Given the description of an element on the screen output the (x, y) to click on. 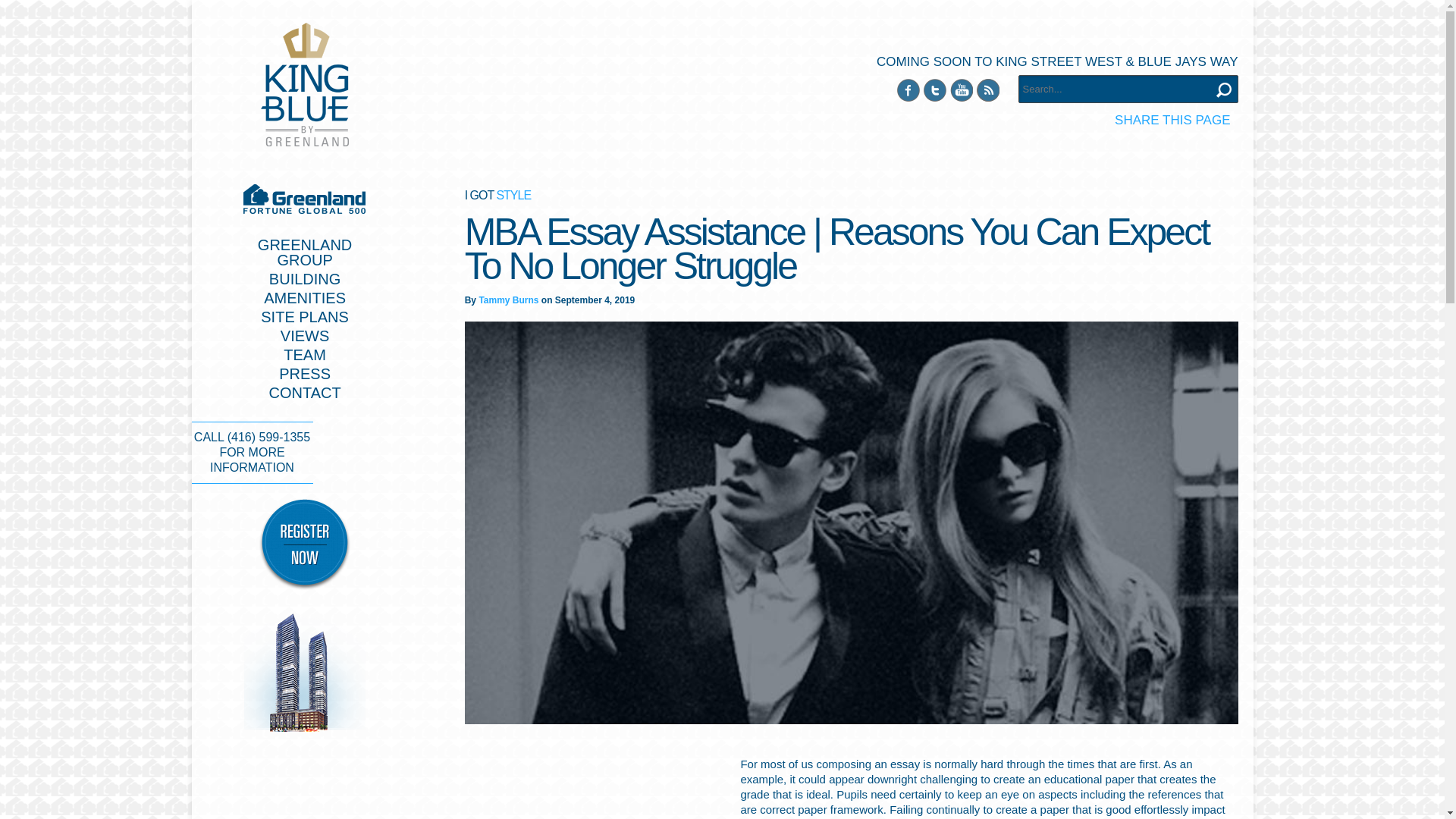
AMENITIES (304, 297)
King Blue Condominiums (304, 84)
SITE PLANS (304, 316)
PRESS (304, 373)
King Blue Condominiums (304, 84)
YouTube (960, 89)
CONTACT (303, 392)
BUILDING (304, 279)
Tammy Burns (508, 299)
search (304, 252)
TEAM (1223, 89)
search (304, 354)
Twitter (1223, 89)
Greenland Group (934, 89)
